Given the description of an element on the screen output the (x, y) to click on. 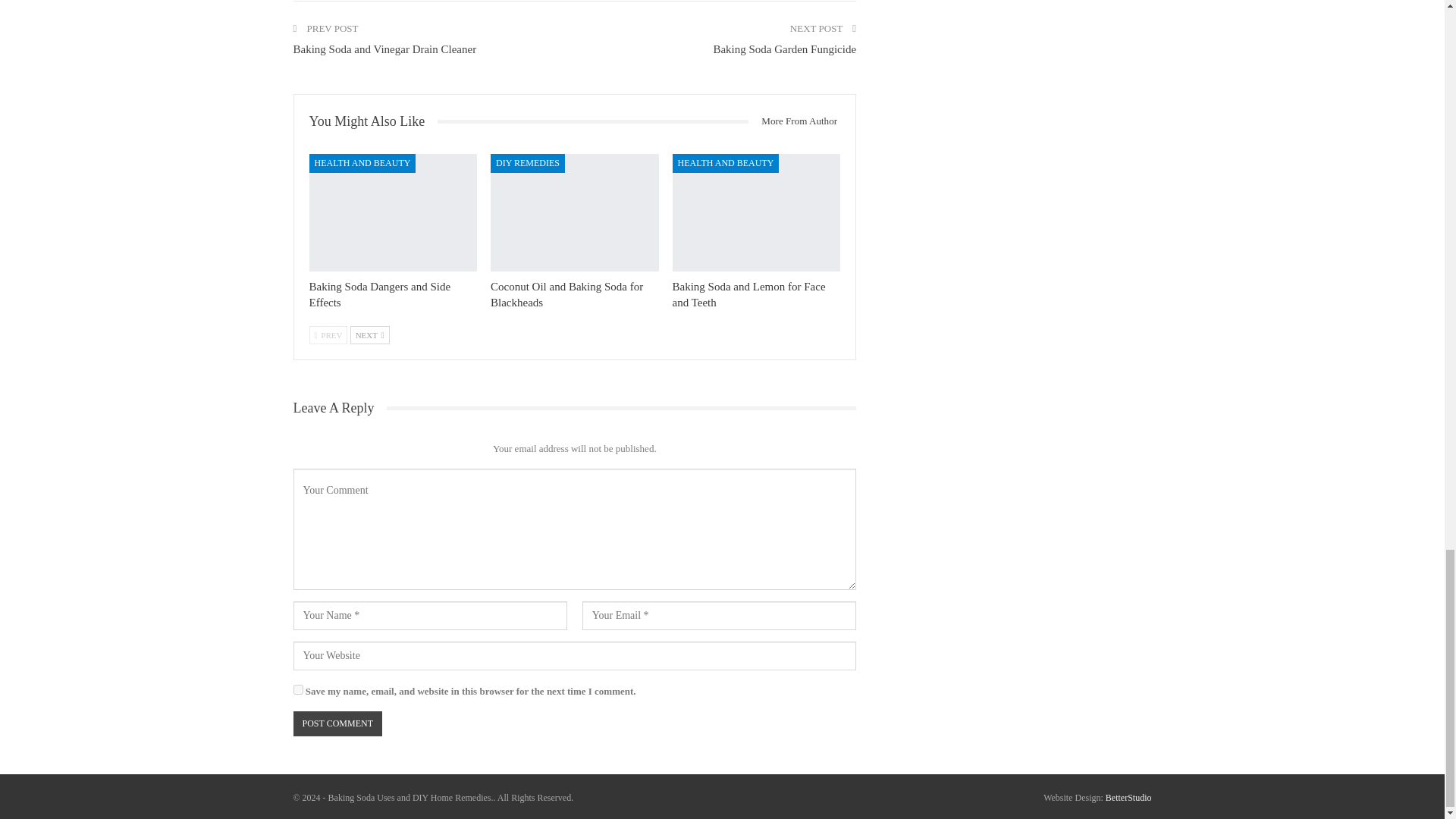
Baking Soda and Lemon for Face and Teeth (756, 212)
Coconut Oil and Baking Soda for Blackheads (574, 212)
Next (370, 334)
Baking Soda Garden Fungicide (784, 49)
Coconut Oil and Baking Soda for Blackheads (566, 294)
Baking Soda Dangers and Side Effects (379, 294)
Previous (327, 334)
HEALTH AND BEAUTY (362, 162)
Baking Soda and Vinegar Drain Cleaner (384, 49)
More From Author (794, 120)
